Given the description of an element on the screen output the (x, y) to click on. 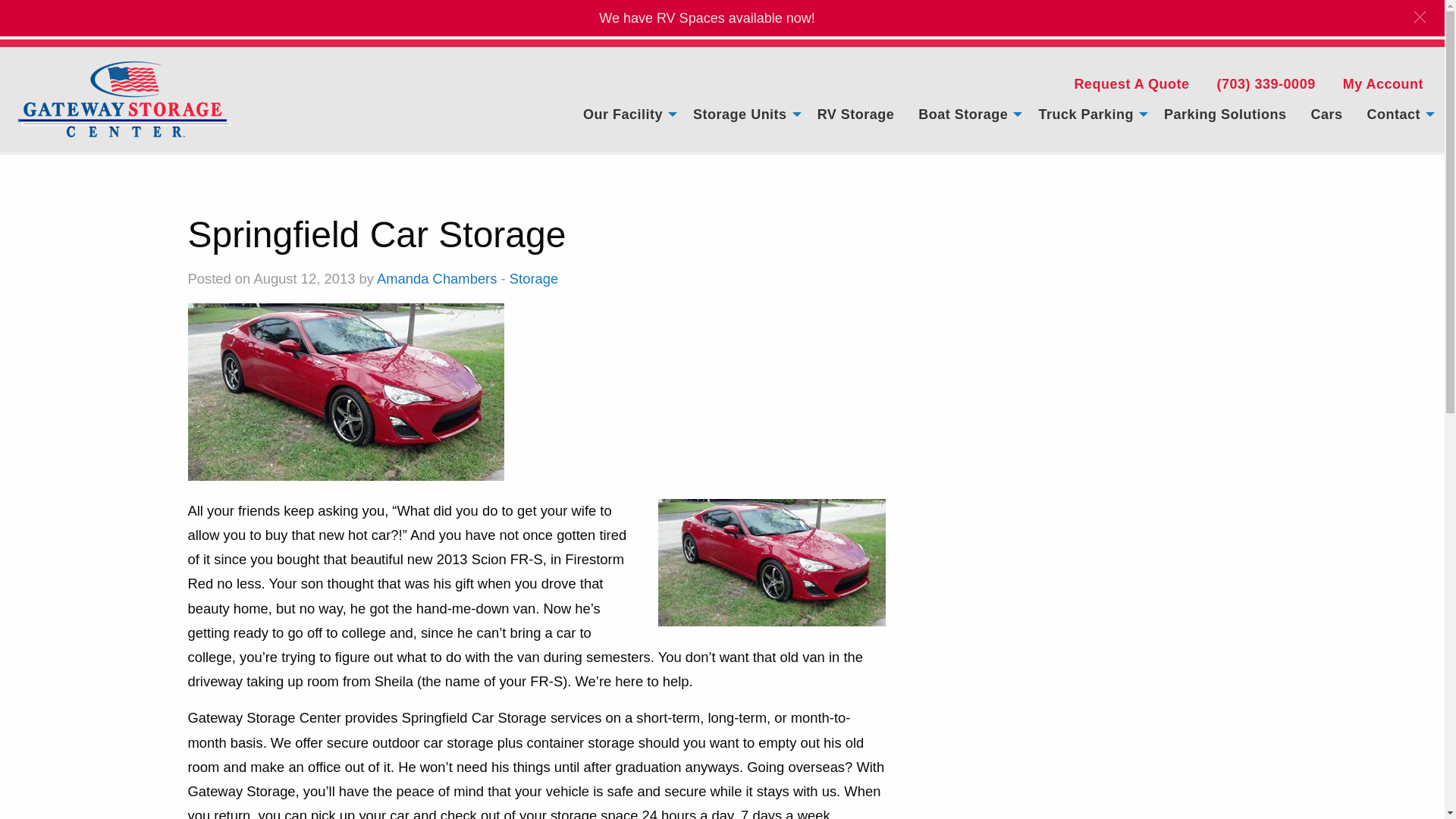
Our Facility (625, 114)
Posts by Amanda Chambers (436, 278)
Storage Units (743, 114)
RV Storage (856, 114)
Truck Parking (1088, 114)
My Account (1382, 83)
Boat Storage (965, 114)
Request A Quote (1131, 83)
